Given the description of an element on the screen output the (x, y) to click on. 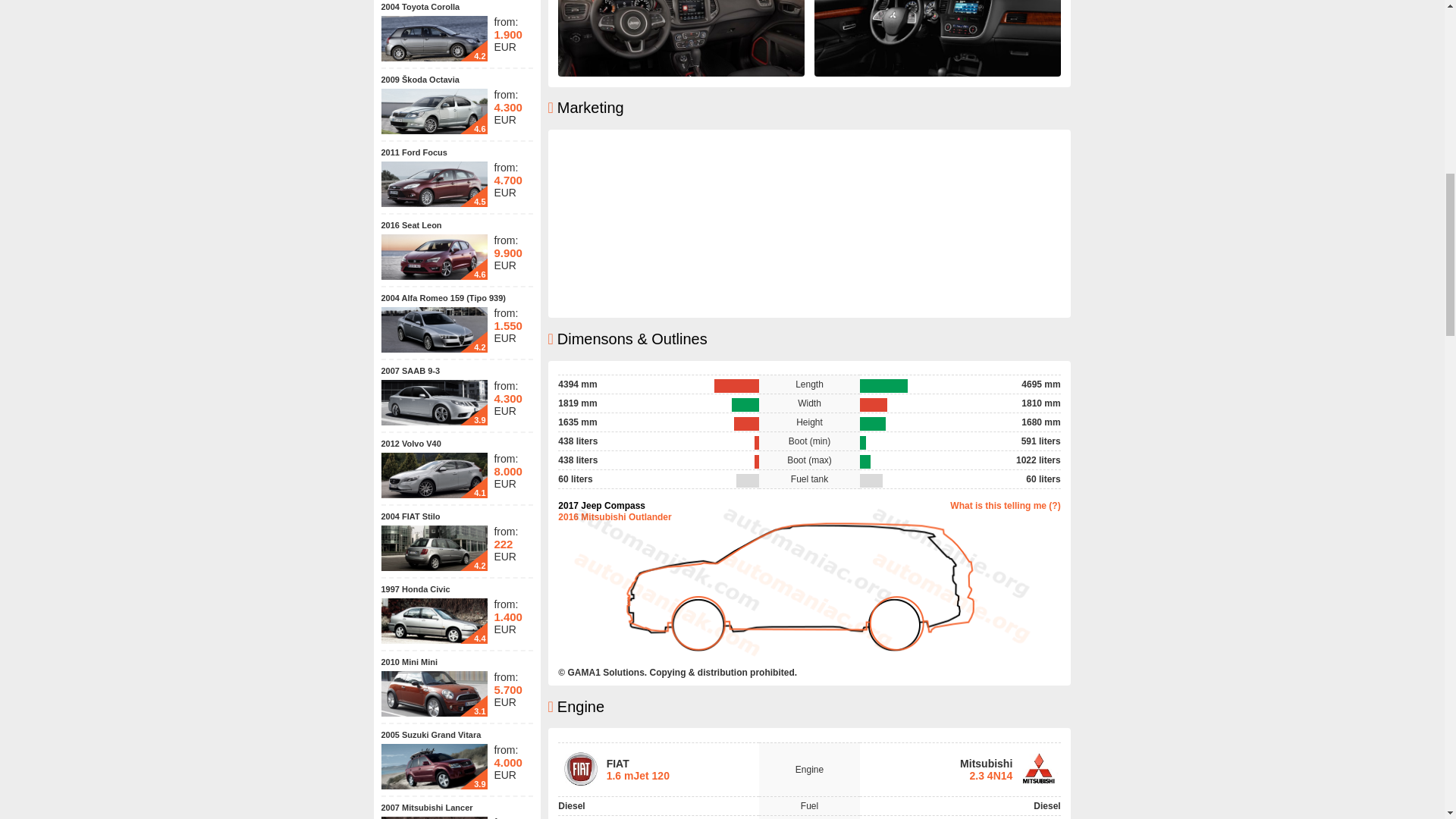
2004 Toyota Corolla (420, 6)
2011 Ford Focus (413, 152)
2016 Seat Leon (410, 225)
